Given the description of an element on the screen output the (x, y) to click on. 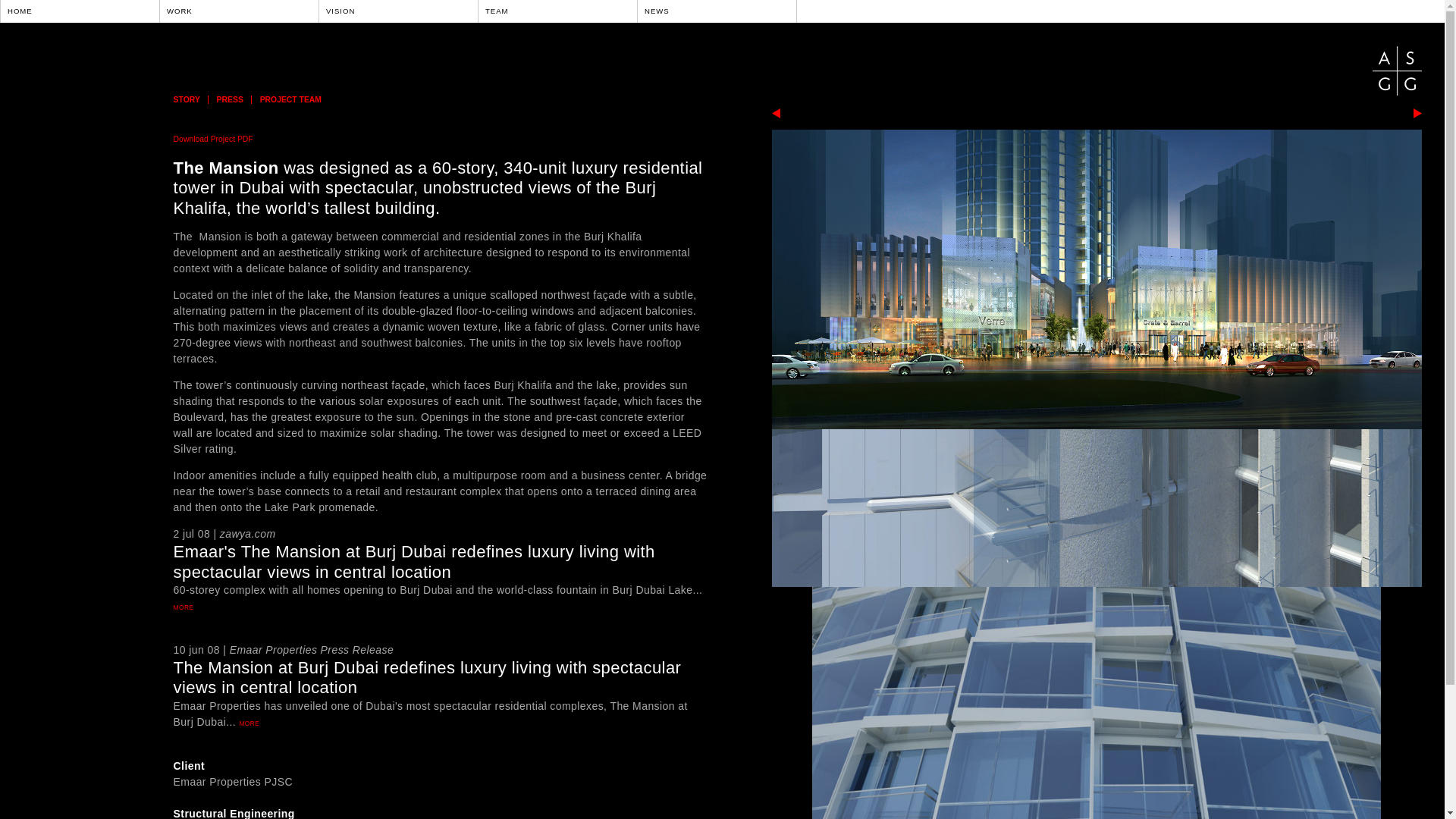
HOME (78, 11)
WORK (237, 11)
